Given the description of an element on the screen output the (x, y) to click on. 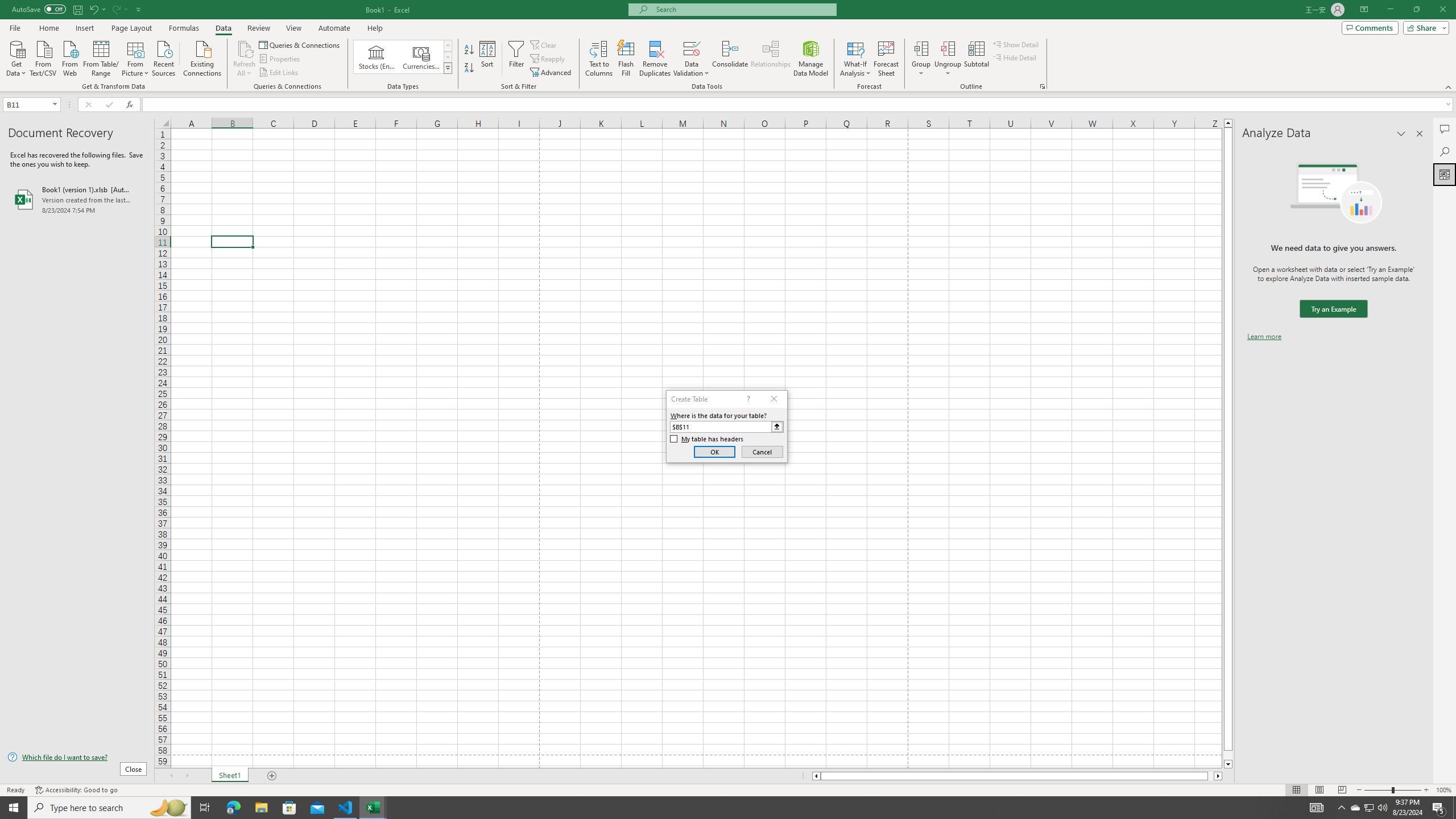
Edit Links (279, 72)
Stocks (English) (375, 56)
Subtotal (976, 58)
Hide Detail (1014, 56)
Text to Columns... (598, 58)
Filter (515, 58)
From Web (69, 57)
